Given the description of an element on the screen output the (x, y) to click on. 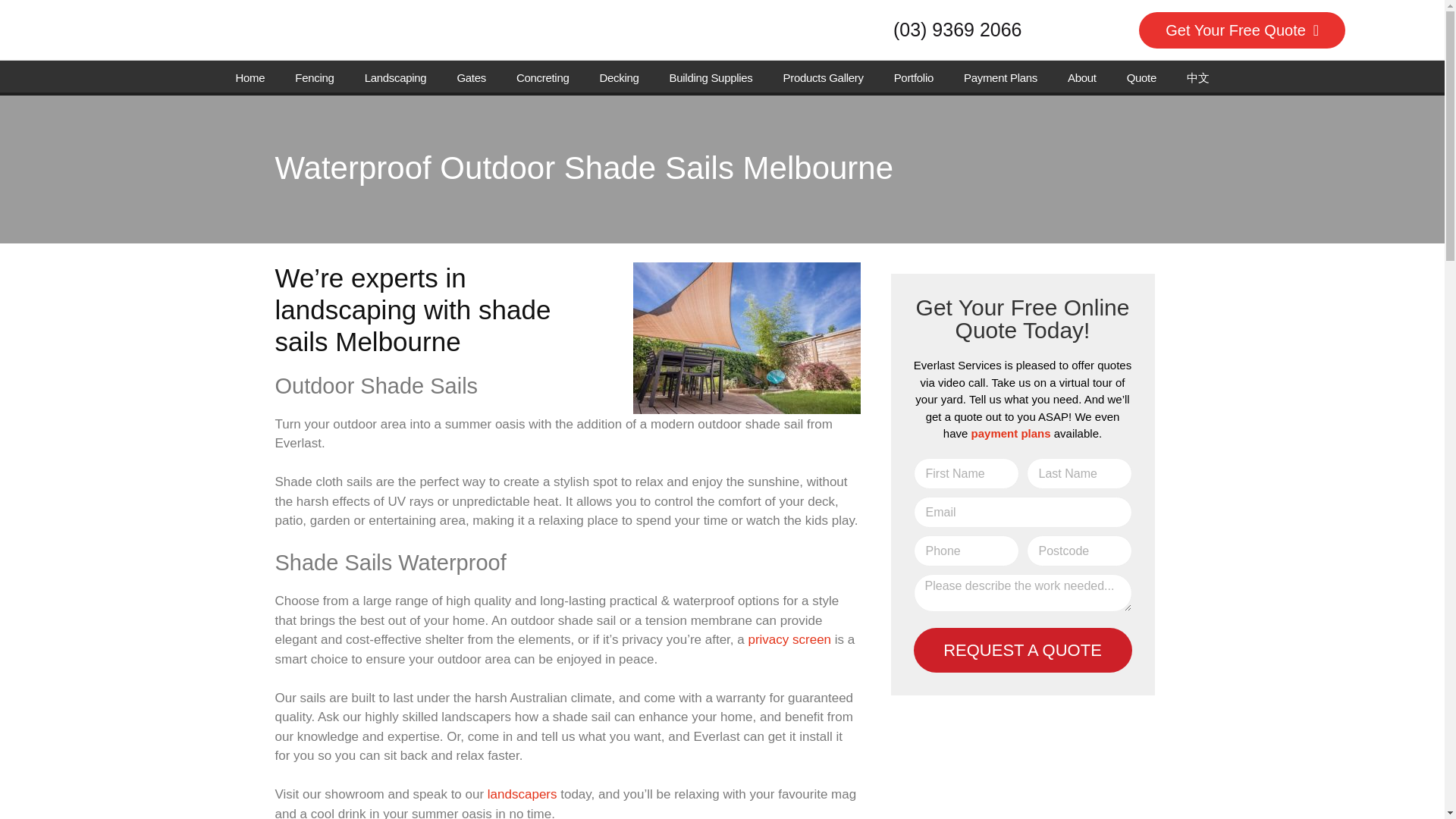
Landscaping (395, 77)
Building Supplies (710, 77)
Decking (618, 77)
Portfolio (914, 77)
Products Gallery (823, 77)
Home (251, 77)
Quote (1142, 77)
About (1082, 77)
Payment Plans (1000, 77)
Concreting (542, 77)
